Given the description of an element on the screen output the (x, y) to click on. 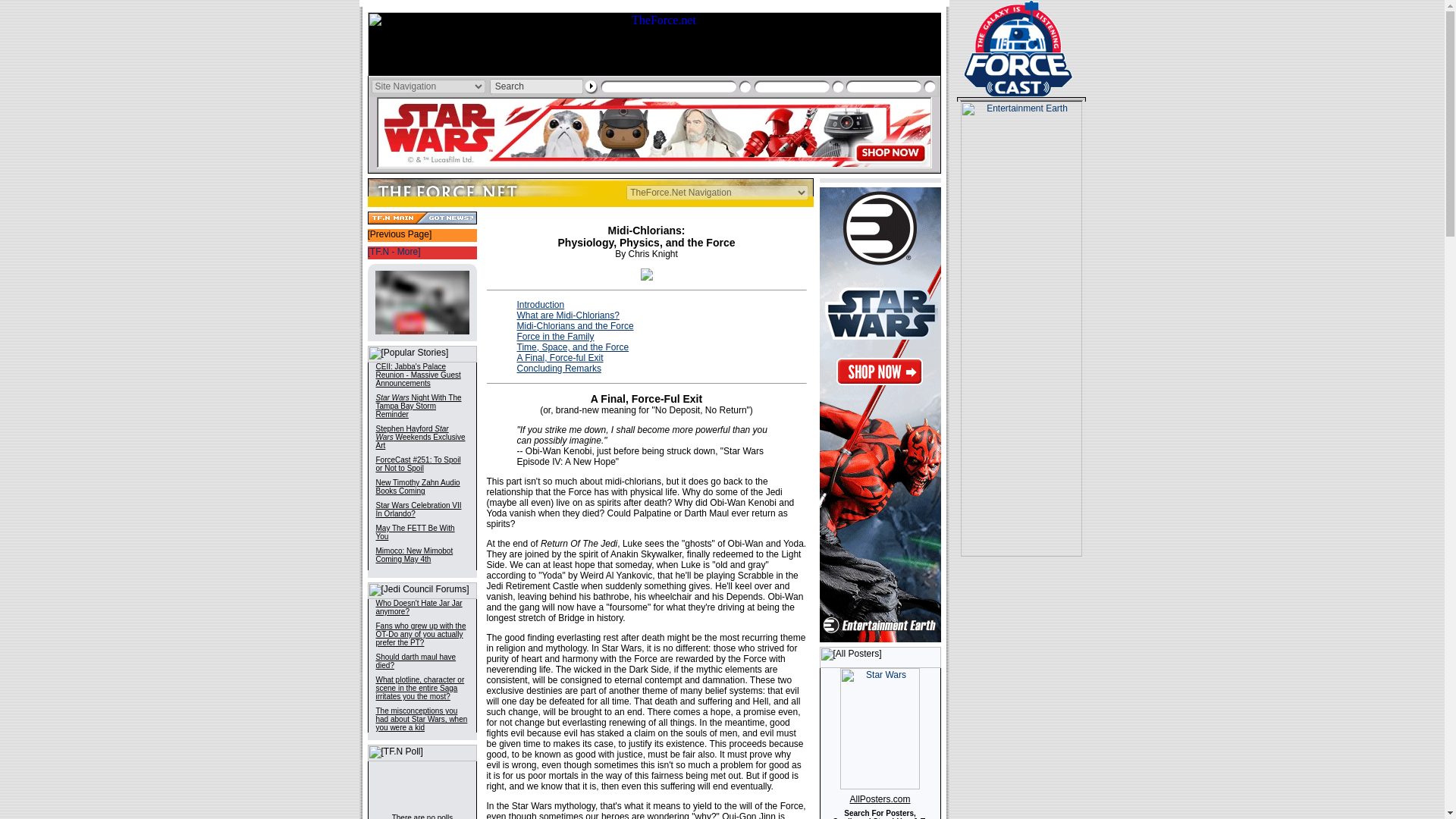
AllPosters.com (879, 798)
Who Doesn't Hate Jar Jar anymore? (419, 606)
Star Wars Celebration VII In Orlando? (418, 509)
Concluding Remarks (558, 368)
A Final, Force-ful Exit (560, 357)
Should darth maul have died? (416, 660)
What are Midi-Chlorians? (568, 315)
Mimoco: New Mimobot Coming May 4th (413, 555)
May The FETT Be With You (414, 532)
 Search (536, 86)
 Search (536, 86)
Introduction (540, 304)
Midi-Chlorians and the Force (574, 326)
Time, Space, and the Force (572, 347)
